Given the description of an element on the screen output the (x, y) to click on. 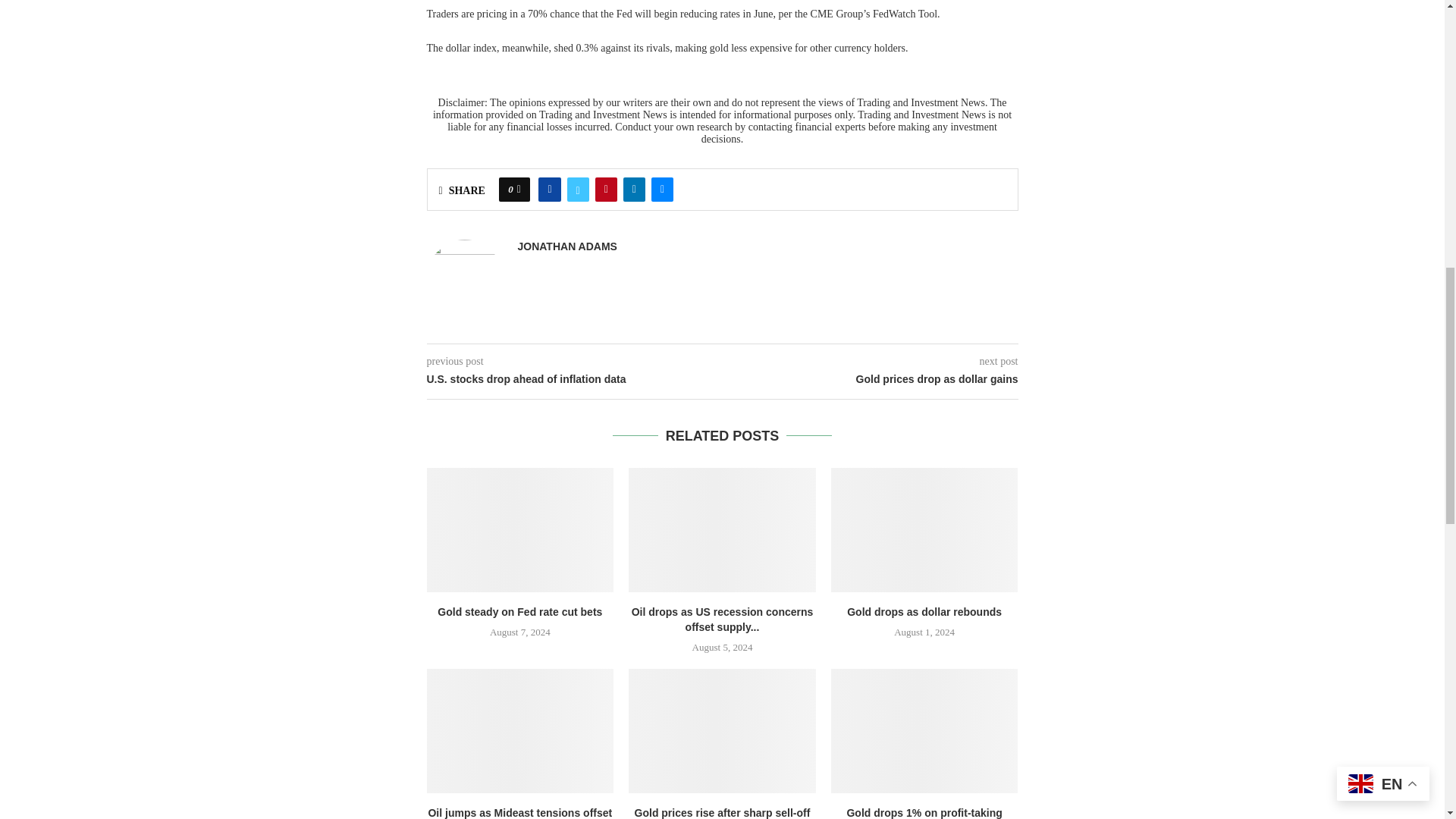
Gold steady on Fed rate cut bets (519, 529)
Gold drops as dollar rebounds (924, 529)
Author Jonathan Adams (565, 246)
Oil drops as US recession concerns offset supply worries (721, 529)
Oil jumps as Mideast tensions offset China demand concerns (519, 731)
Gold prices rise after sharp sell-off (721, 731)
